Given the description of an element on the screen output the (x, y) to click on. 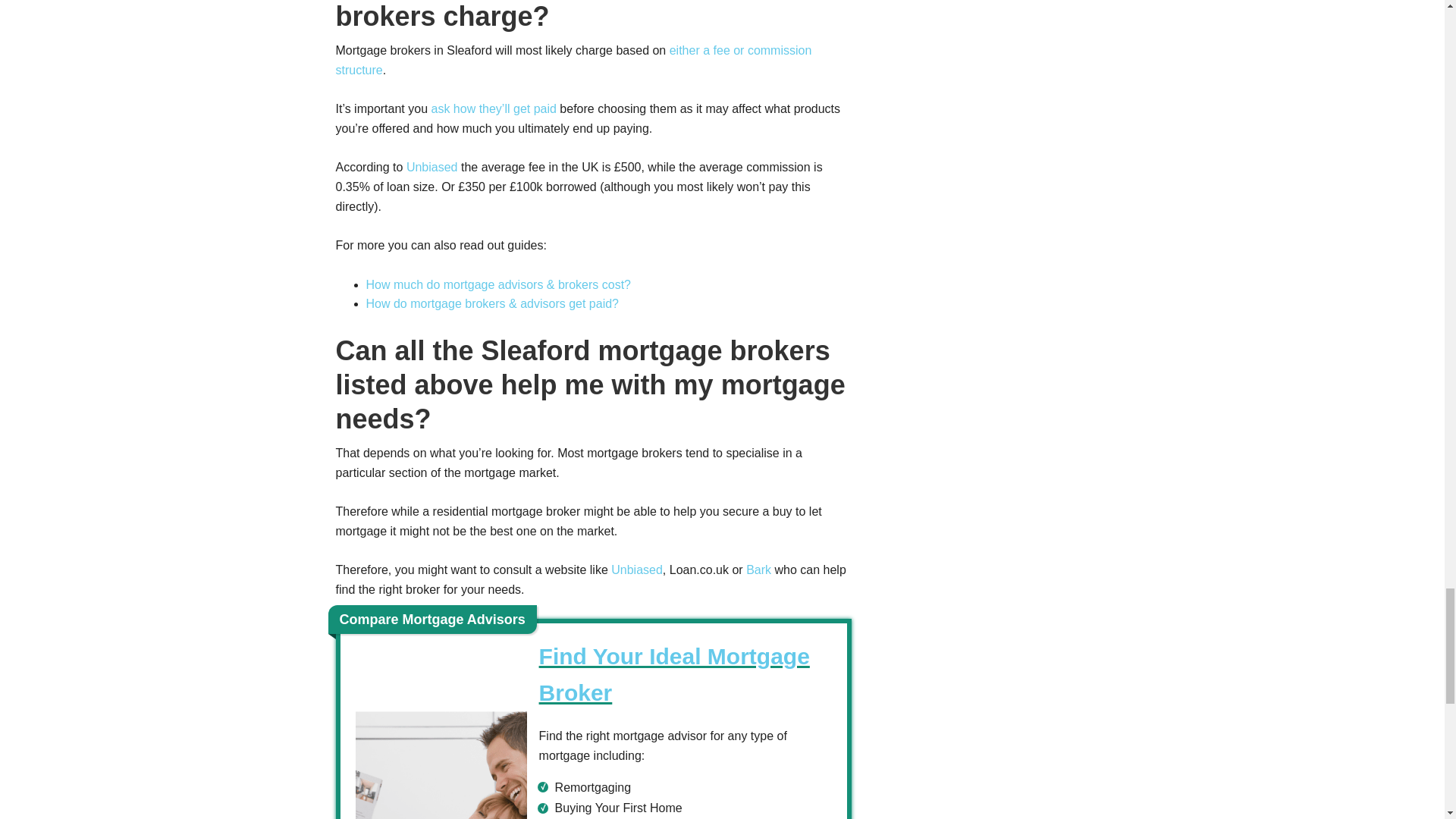
Find Your Ideal Mortgage Broker (673, 674)
Bark (758, 569)
Unbiased (432, 166)
either a fee or commission structure (572, 60)
Unbiased (636, 569)
